Given the description of an element on the screen output the (x, y) to click on. 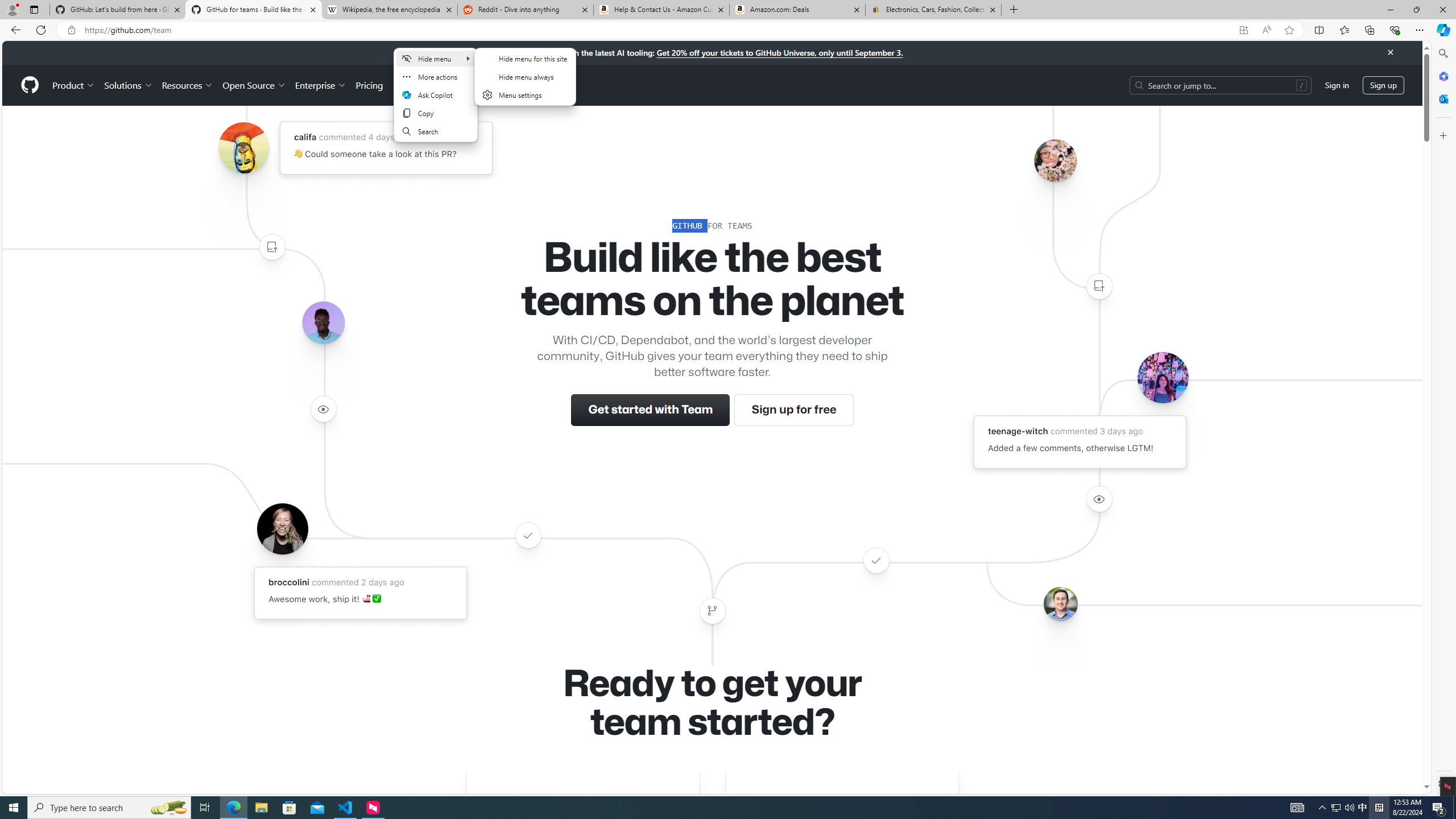
Avatar of the user califa (243, 147)
Avatar of the user teenage-witch (1162, 376)
Copy (435, 113)
Avatar of the user benbalter (1059, 604)
